Given the description of an element on the screen output the (x, y) to click on. 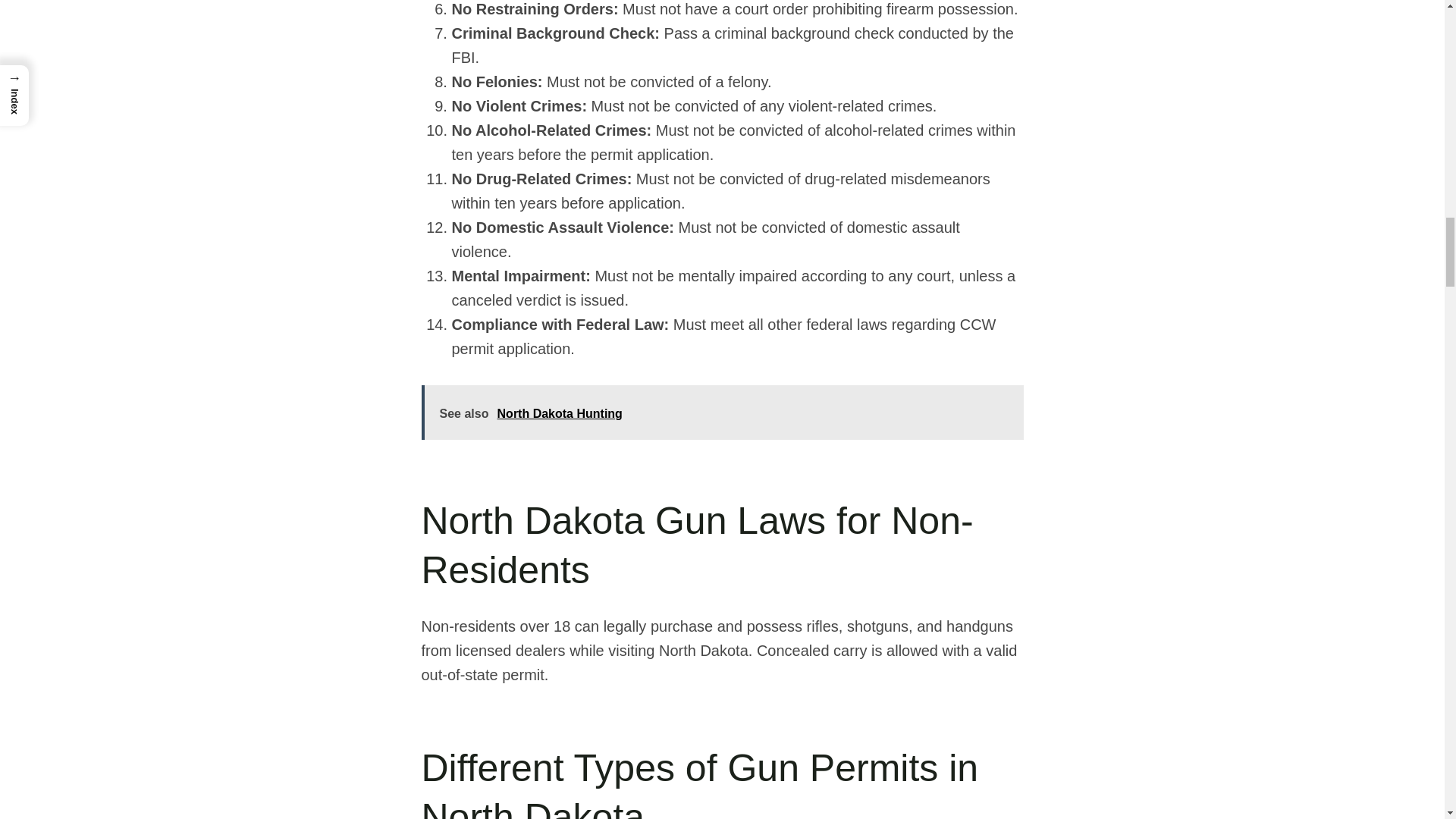
See also  North Dakota Hunting (722, 411)
